Given the description of an element on the screen output the (x, y) to click on. 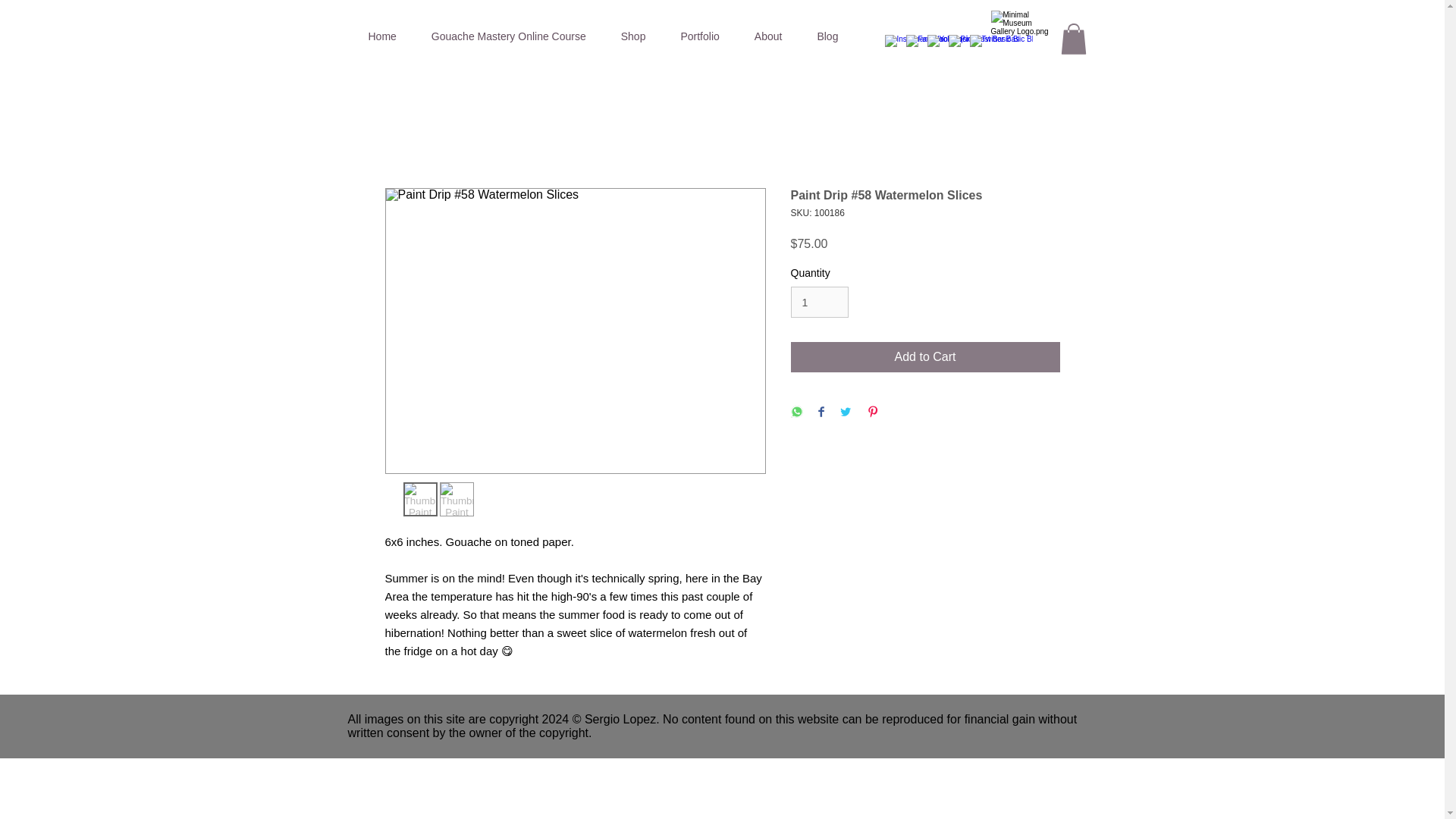
Home (381, 36)
1 (818, 301)
Shop (633, 36)
Gouache Mastery Online Course (508, 36)
About (767, 36)
Blog (827, 36)
Add to Cart (924, 357)
